Given the description of an element on the screen output the (x, y) to click on. 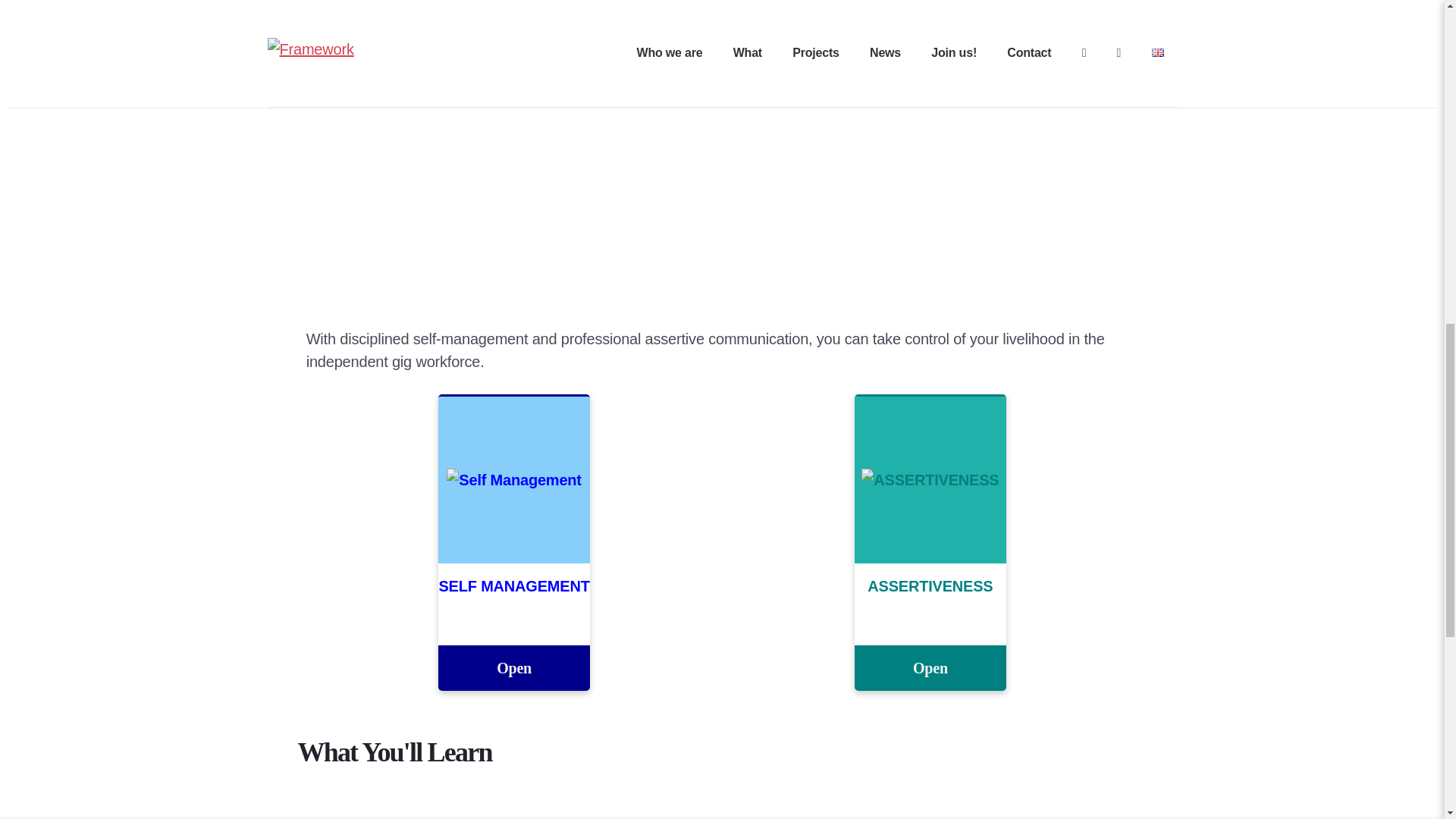
Open (930, 668)
Open (513, 668)
